Given the description of an element on the screen output the (x, y) to click on. 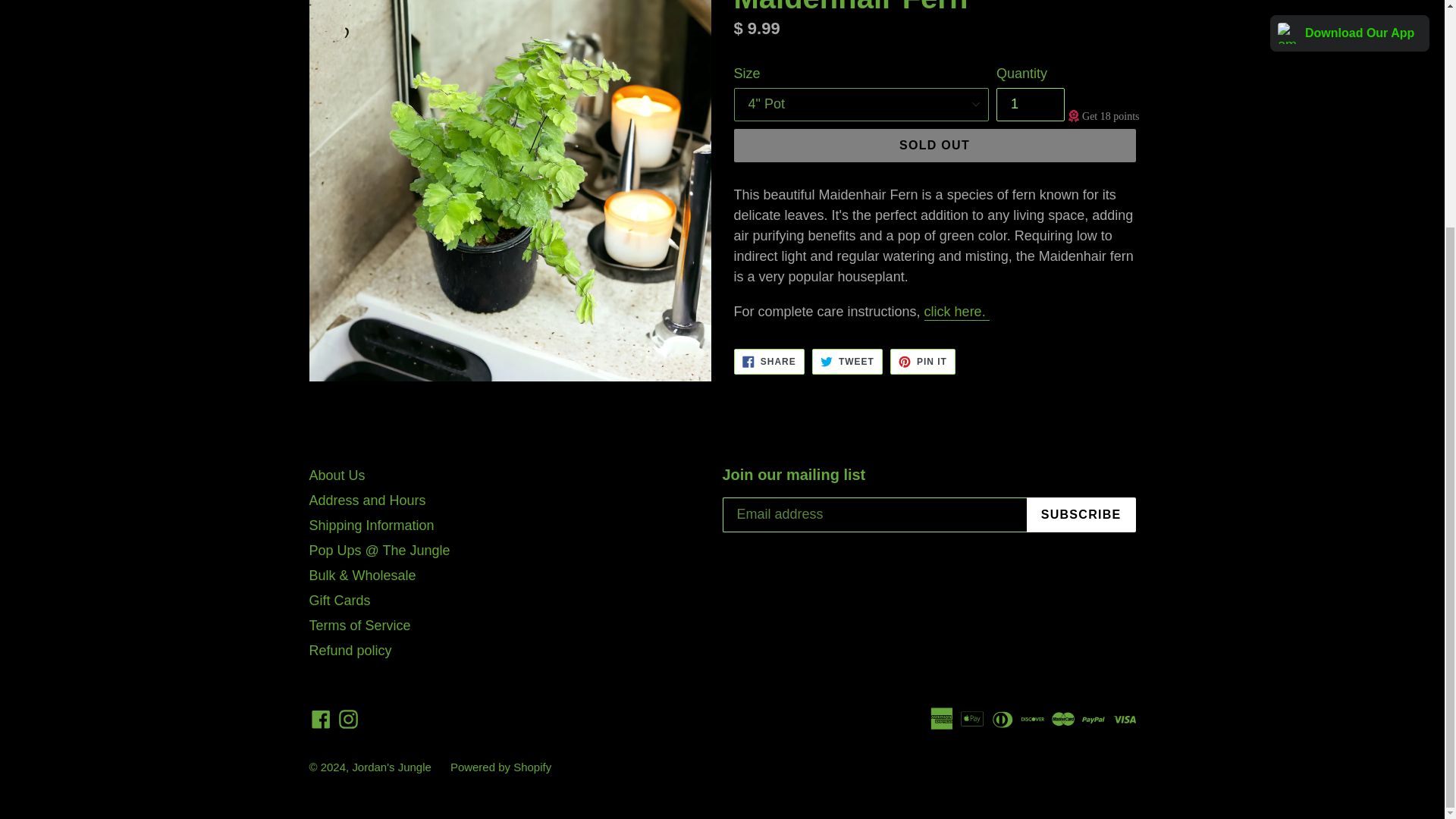
Tweet on Twitter (847, 361)
Fern Care Guide (957, 312)
Pin on Pinterest (847, 361)
SOLD OUT (922, 361)
Share on Facebook (922, 361)
Jordan's Jungle on Instagram (934, 145)
1 (769, 361)
